Given the description of an element on the screen output the (x, y) to click on. 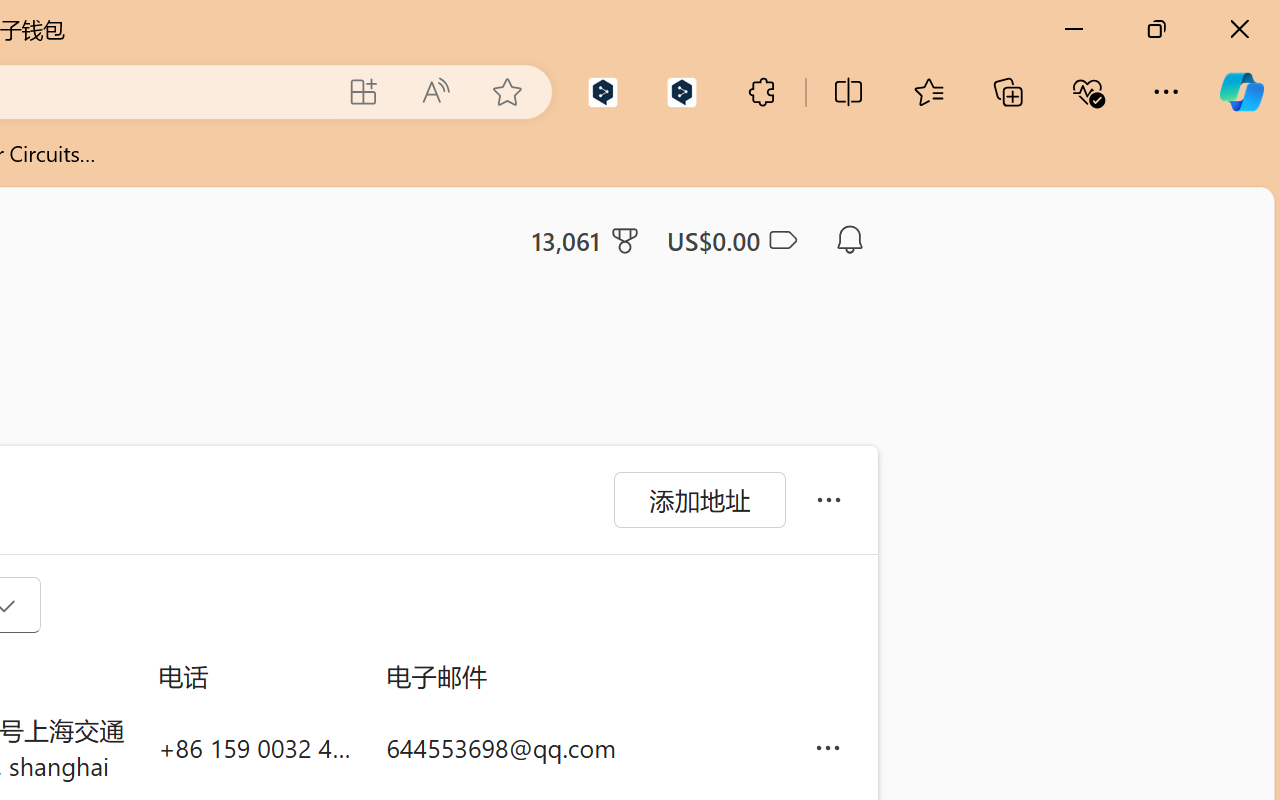
Copilot (Ctrl+Shift+.) (1241, 91)
Class: ___1lmltc5 f1agt3bx f12qytpq (781, 241)
Microsoft Cashback - US$0.00 (731, 240)
